Given the description of an element on the screen output the (x, y) to click on. 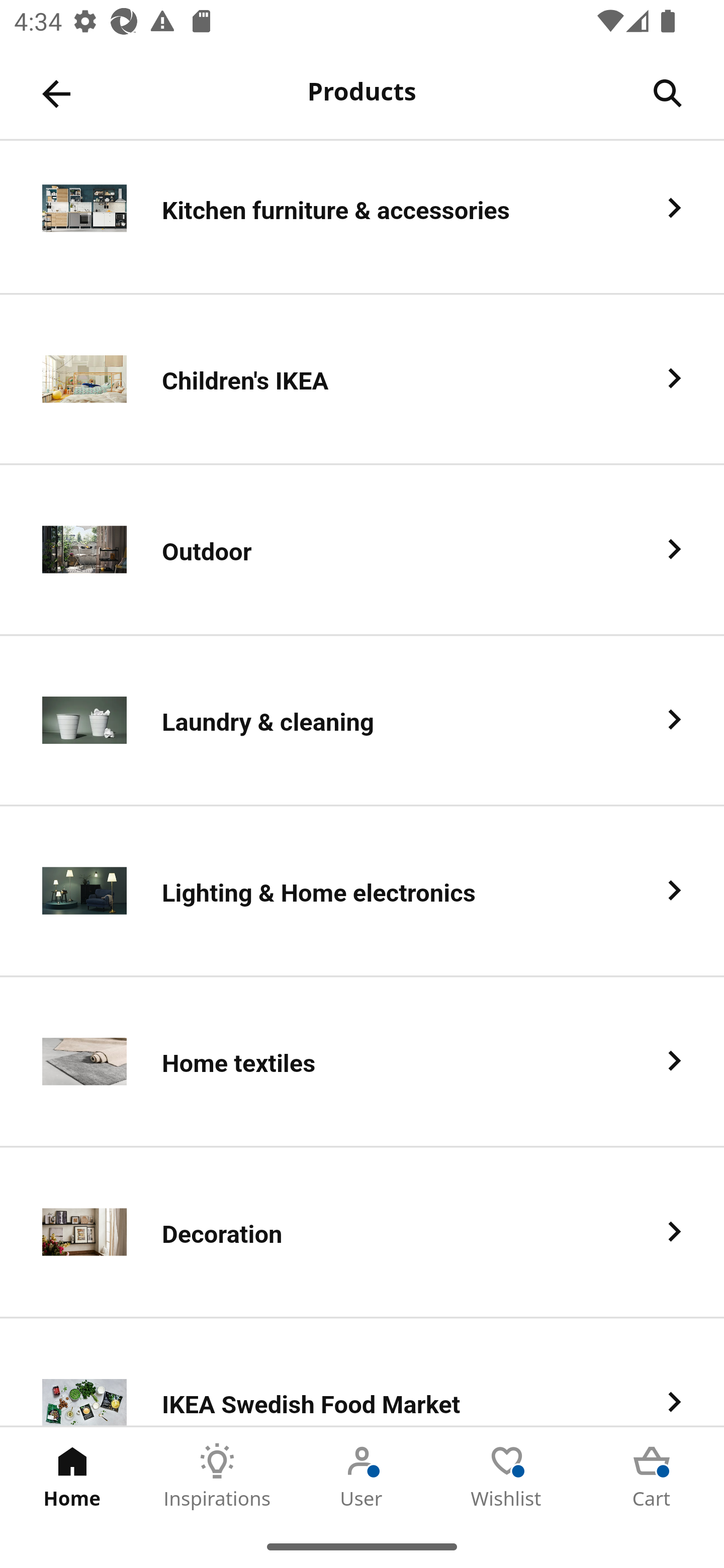
Kitchen furniture & accessories (362, 217)
Children's IKEA (362, 379)
Outdoor (362, 550)
Laundry & cleaning (362, 720)
Lighting & Home electronics (362, 890)
Home textiles (362, 1061)
Decoration (362, 1232)
IKEA Swedish Food Market (362, 1371)
Home
Tab 1 of 5 (72, 1476)
Inspirations
Tab 2 of 5 (216, 1476)
User
Tab 3 of 5 (361, 1476)
Wishlist
Tab 4 of 5 (506, 1476)
Cart
Tab 5 of 5 (651, 1476)
